Given the description of an element on the screen output the (x, y) to click on. 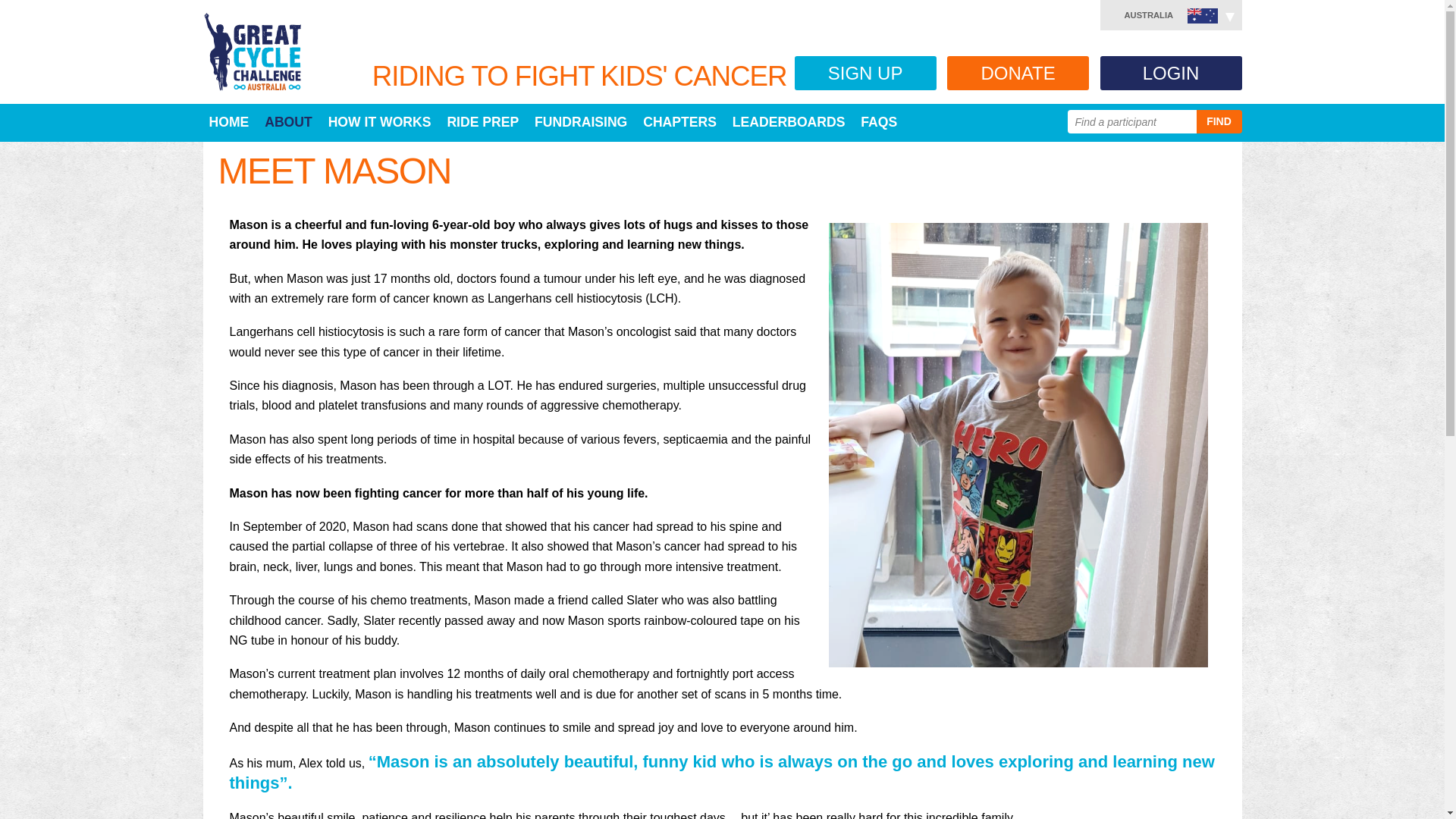
HOME (228, 121)
Home (228, 121)
ABOUT (288, 121)
Great Cycle Challenge Australia (252, 51)
RIDE PREP (482, 121)
HOW IT WORKS (379, 121)
How it Works (379, 121)
FUNDRAISING (580, 121)
About (288, 121)
